Given the description of an element on the screen output the (x, y) to click on. 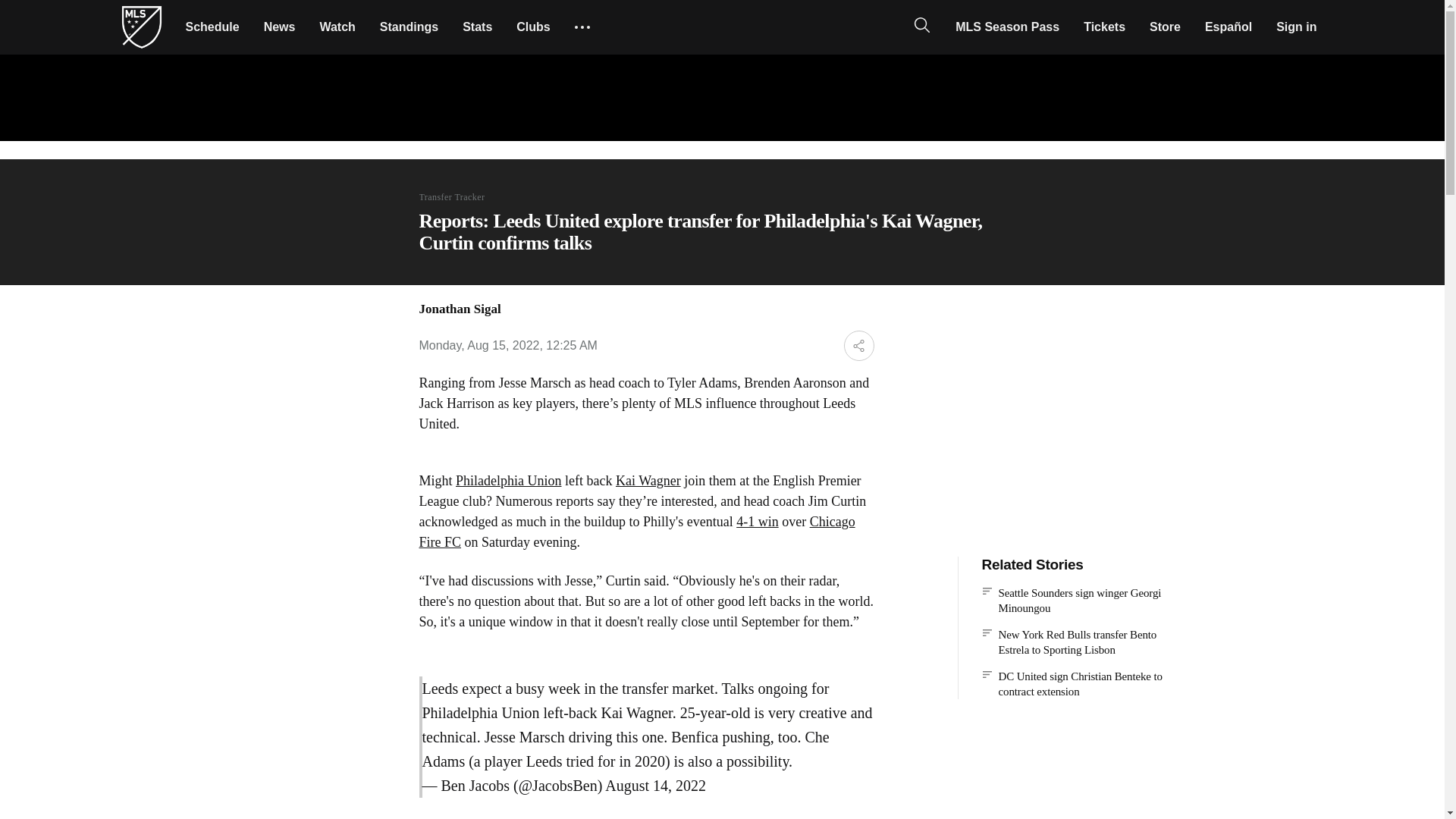
Stats (476, 26)
Store (1164, 26)
Watch (336, 26)
News (279, 26)
Standings (408, 26)
Major League Soccer (141, 27)
Schedule (211, 26)
Sign in (1295, 26)
MLS Season Pass (1007, 26)
Tickets (1104, 26)
